Given the description of an element on the screen output the (x, y) to click on. 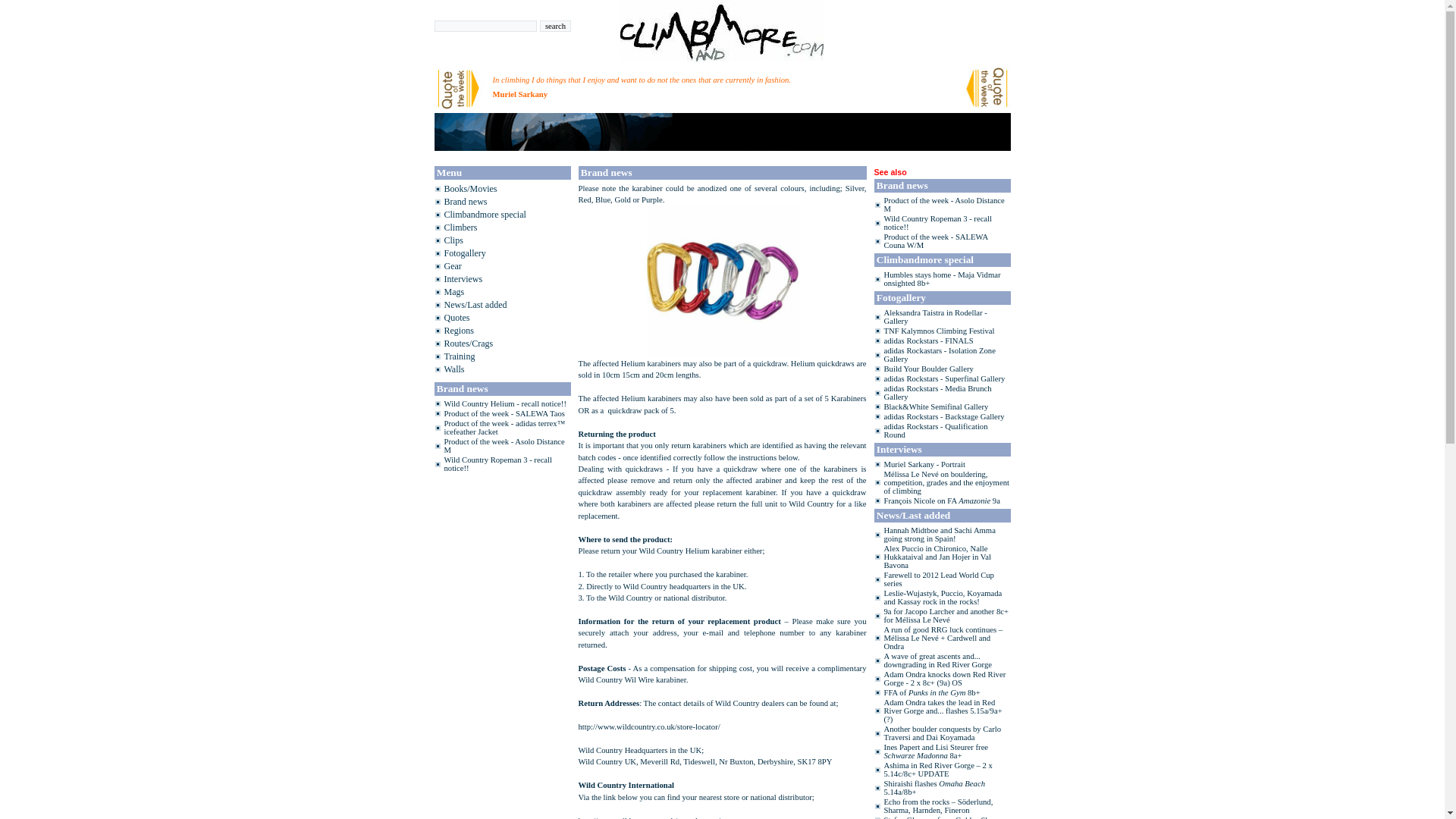
adidas Rockstars - Superfinal Gallery (944, 378)
TNF Kalymnos Climbing Festival (938, 330)
Training (460, 356)
Aleksandra Taistra in Rodellar - Gallery (935, 316)
adidas Rockstars - FINALS (928, 340)
Fotogallery (465, 253)
Brand news (465, 201)
Climbandmore special (484, 214)
Muriel Sarkany - Portrait (924, 464)
Quotes (457, 317)
